Given the description of an element on the screen output the (x, y) to click on. 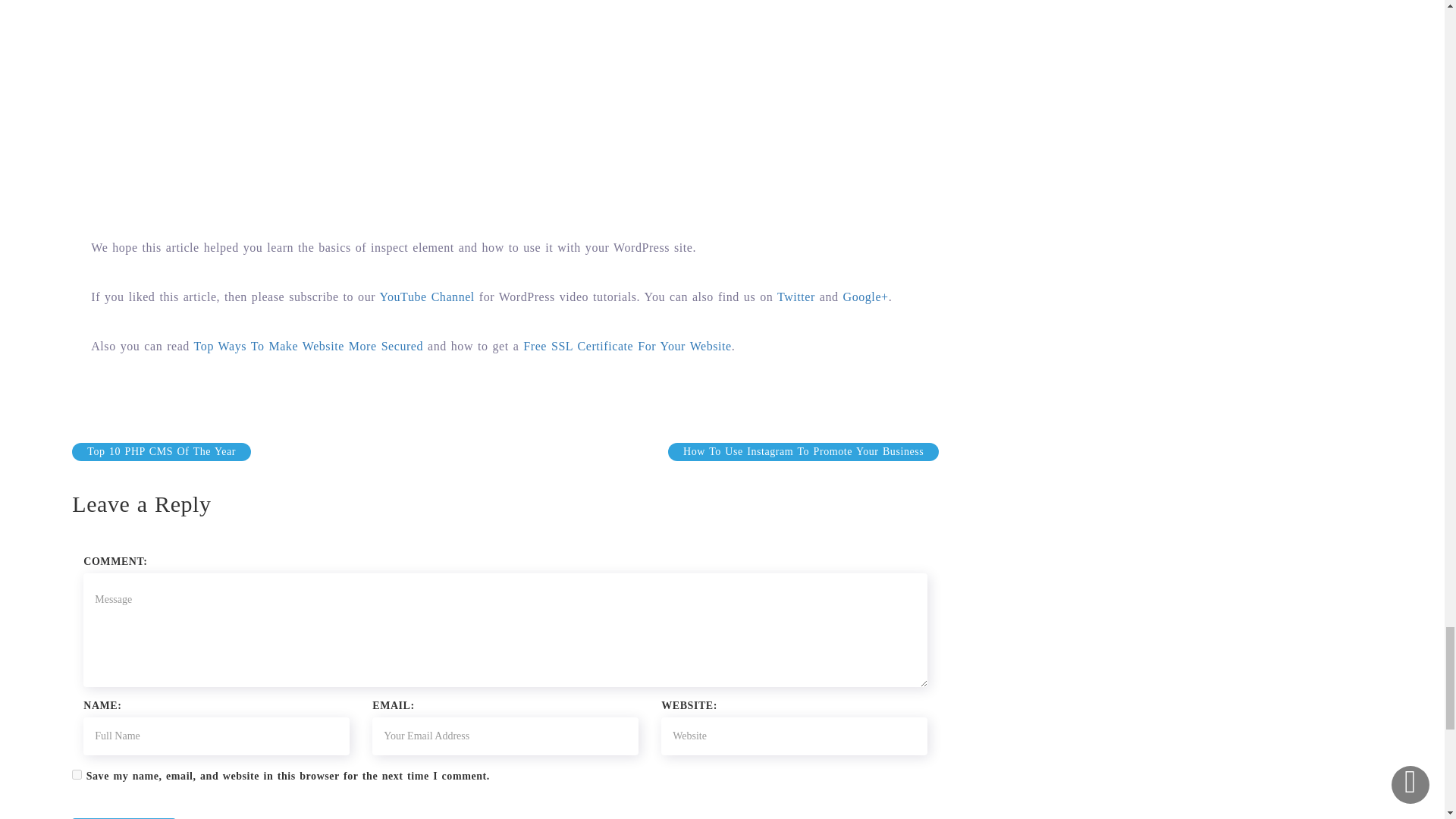
yes (76, 774)
Top Ways To Make Website More Secured (308, 345)
WPBeginner on YouTube (426, 296)
WPBeginner on Twitter (796, 296)
Free SSL Certificate For Your Website (626, 345)
